Given the description of an element on the screen output the (x, y) to click on. 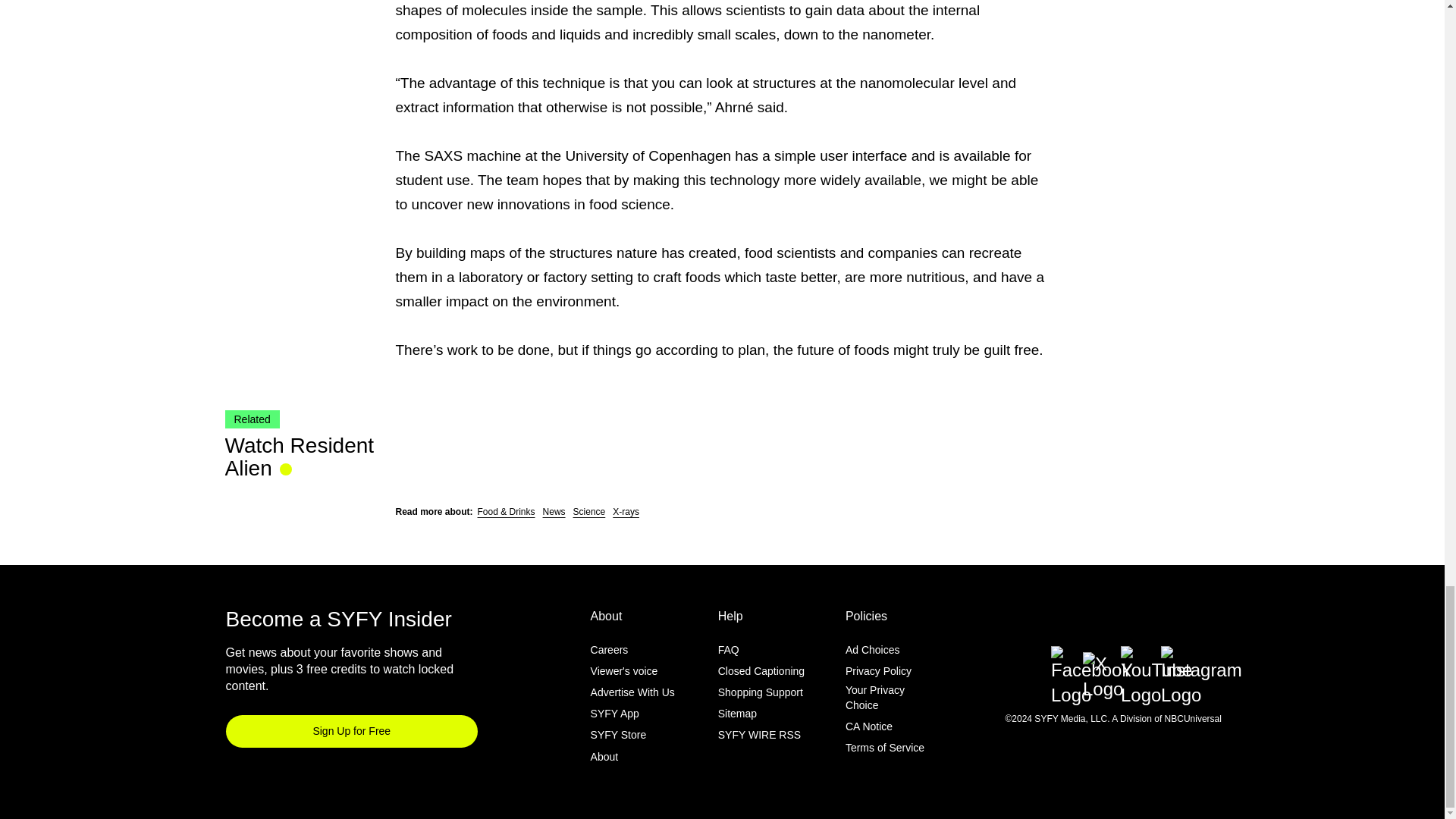
Advertise With Us (633, 692)
X-rays (625, 511)
Science (589, 511)
News (554, 511)
